Given the description of an element on the screen output the (x, y) to click on. 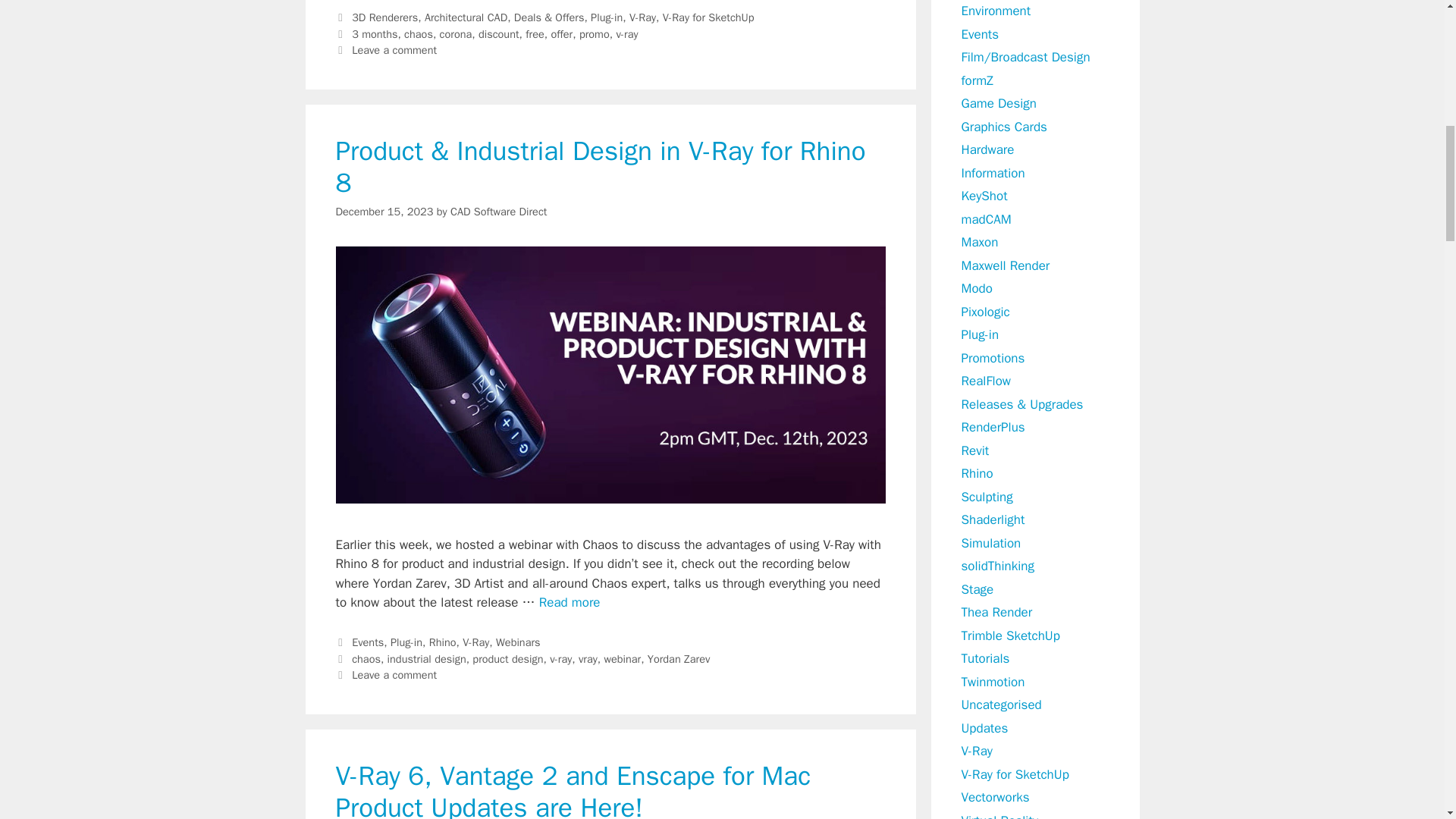
V-Ray (476, 642)
Architectural CAD (465, 17)
V-Ray (642, 17)
View all posts by CAD Software Direct (498, 211)
chaos (366, 658)
free (534, 33)
product design (507, 658)
discount (499, 33)
Plug-in (607, 17)
CAD Software Direct (498, 211)
